Given the description of an element on the screen output the (x, y) to click on. 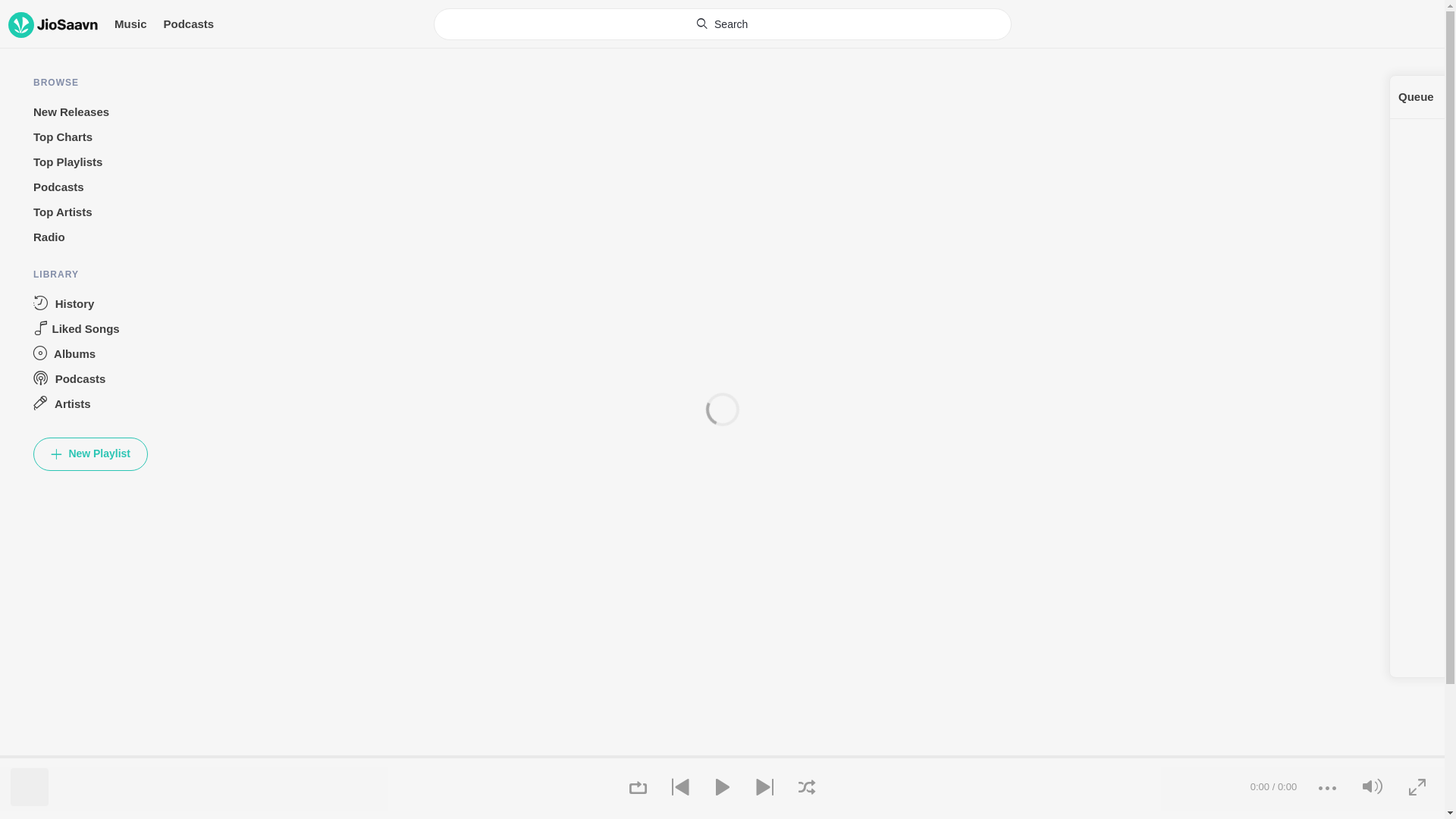
Top Playlists (90, 162)
Logo Button (52, 24)
Top Artists (90, 212)
Podcasts (188, 23)
Radio (90, 237)
New Releases (90, 112)
Podcasts (90, 187)
Top Charts (90, 137)
